Given the description of an element on the screen output the (x, y) to click on. 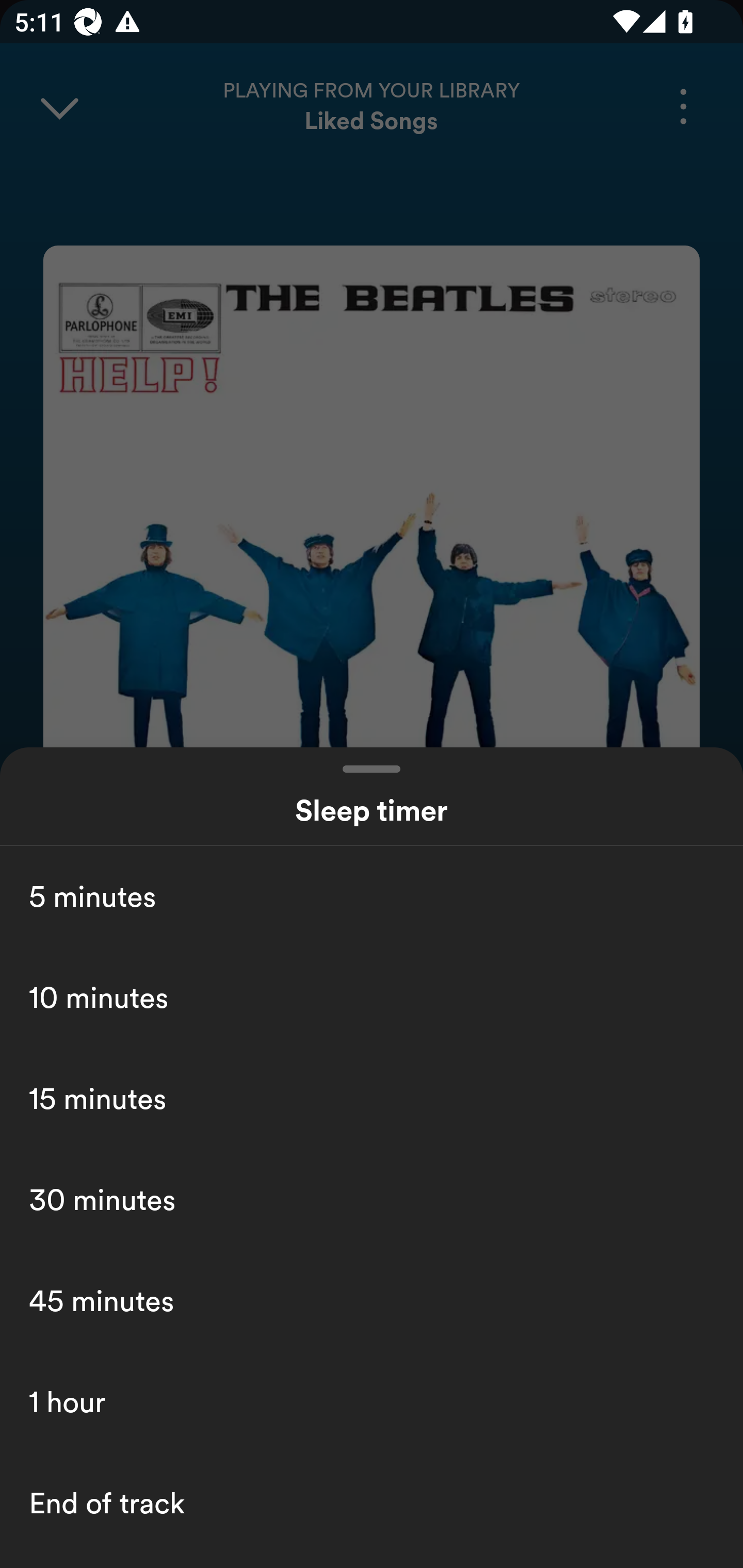
5 minutes (371, 896)
10 minutes (371, 997)
15 minutes (371, 1098)
30 minutes (371, 1199)
45 minutes (371, 1300)
1 hour (371, 1401)
End of track (371, 1502)
